Given the description of an element on the screen output the (x, y) to click on. 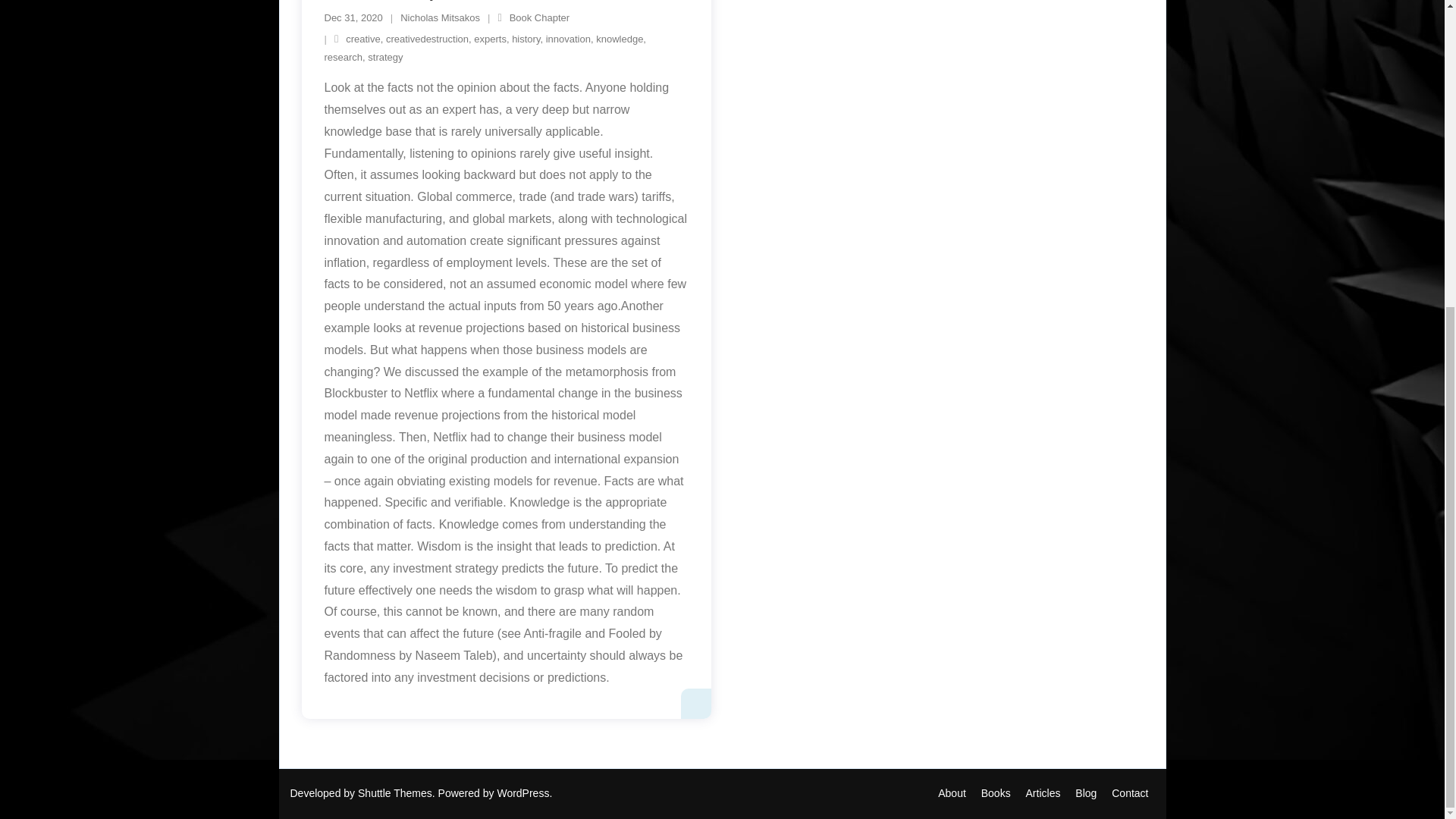
innovation (568, 39)
experts (490, 39)
Dec 31, 2020 (353, 17)
Nicholas Mitsakos (440, 17)
Book Chapter (539, 17)
creative (363, 39)
strategy (385, 57)
creativedestruction (426, 39)
Beware of Experts (353, 17)
Nicholas Mitsakos (951, 793)
history (526, 39)
research (343, 57)
Shuttle Themes (395, 793)
